Given the description of an element on the screen output the (x, y) to click on. 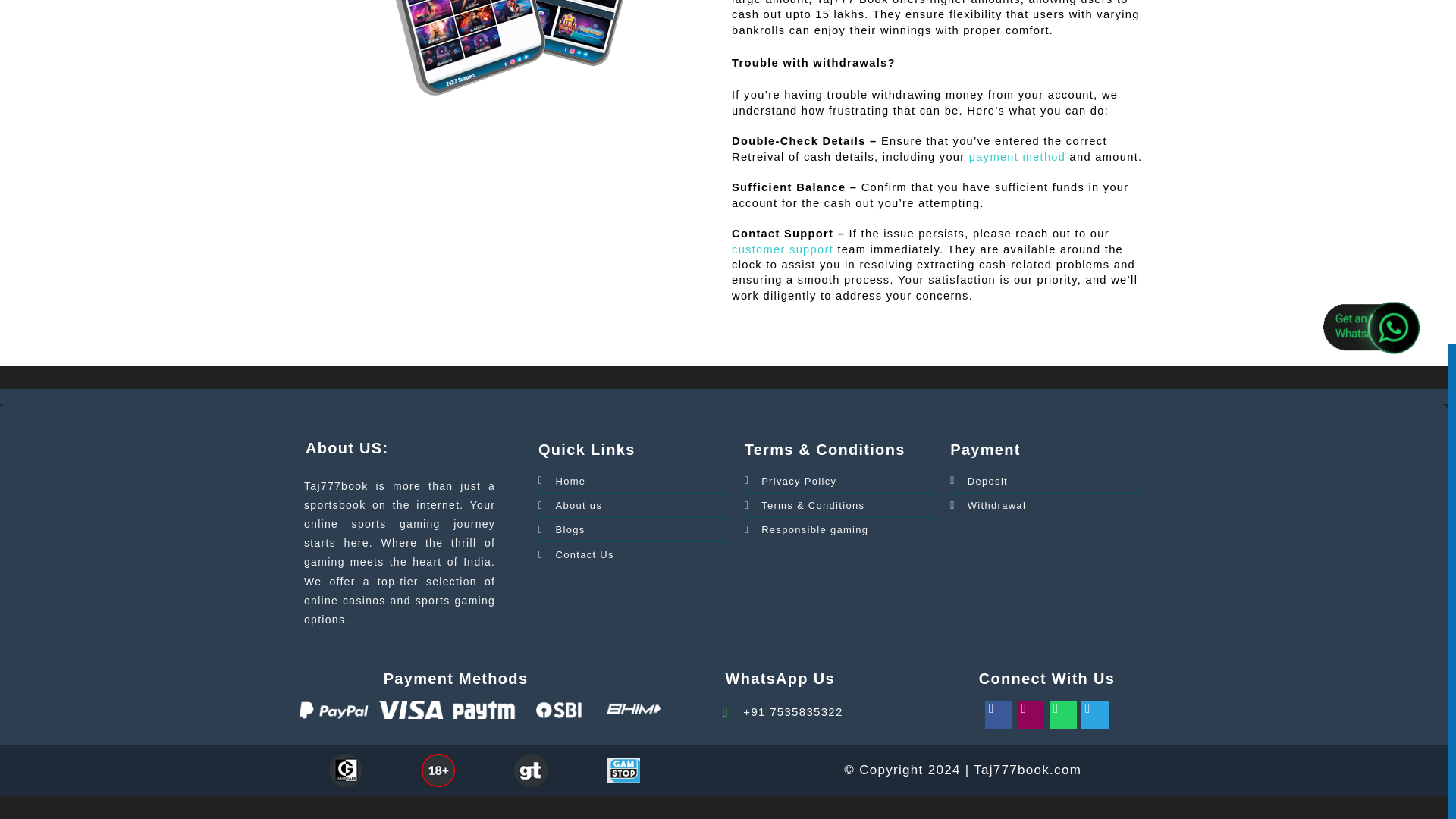
About us (570, 505)
Blogs (561, 529)
customer support (782, 249)
Deposit (978, 480)
Home (561, 480)
payment method (1017, 156)
Contact Us (576, 554)
Responsible gaming (806, 529)
Privacy Policy (790, 480)
Withdrawal (988, 505)
